Given the description of an element on the screen output the (x, y) to click on. 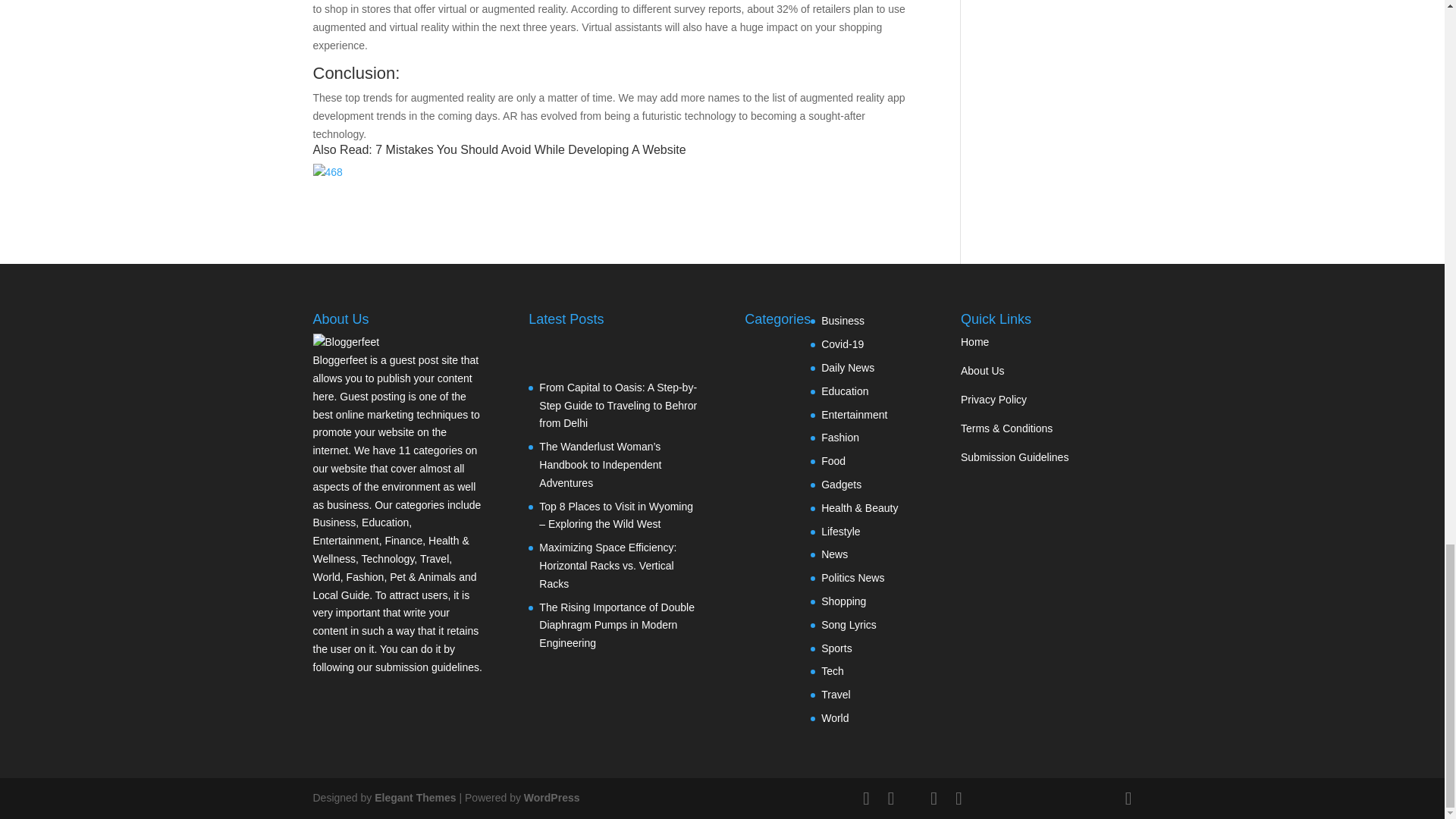
Shopping (843, 601)
Education (844, 390)
Sports (836, 648)
bloggerfeet (345, 341)
Business (842, 320)
Politics News (852, 577)
Daily News (848, 367)
Fashion (840, 437)
Song Lyrics (848, 624)
Lifestyle (840, 531)
